Given the description of an element on the screen output the (x, y) to click on. 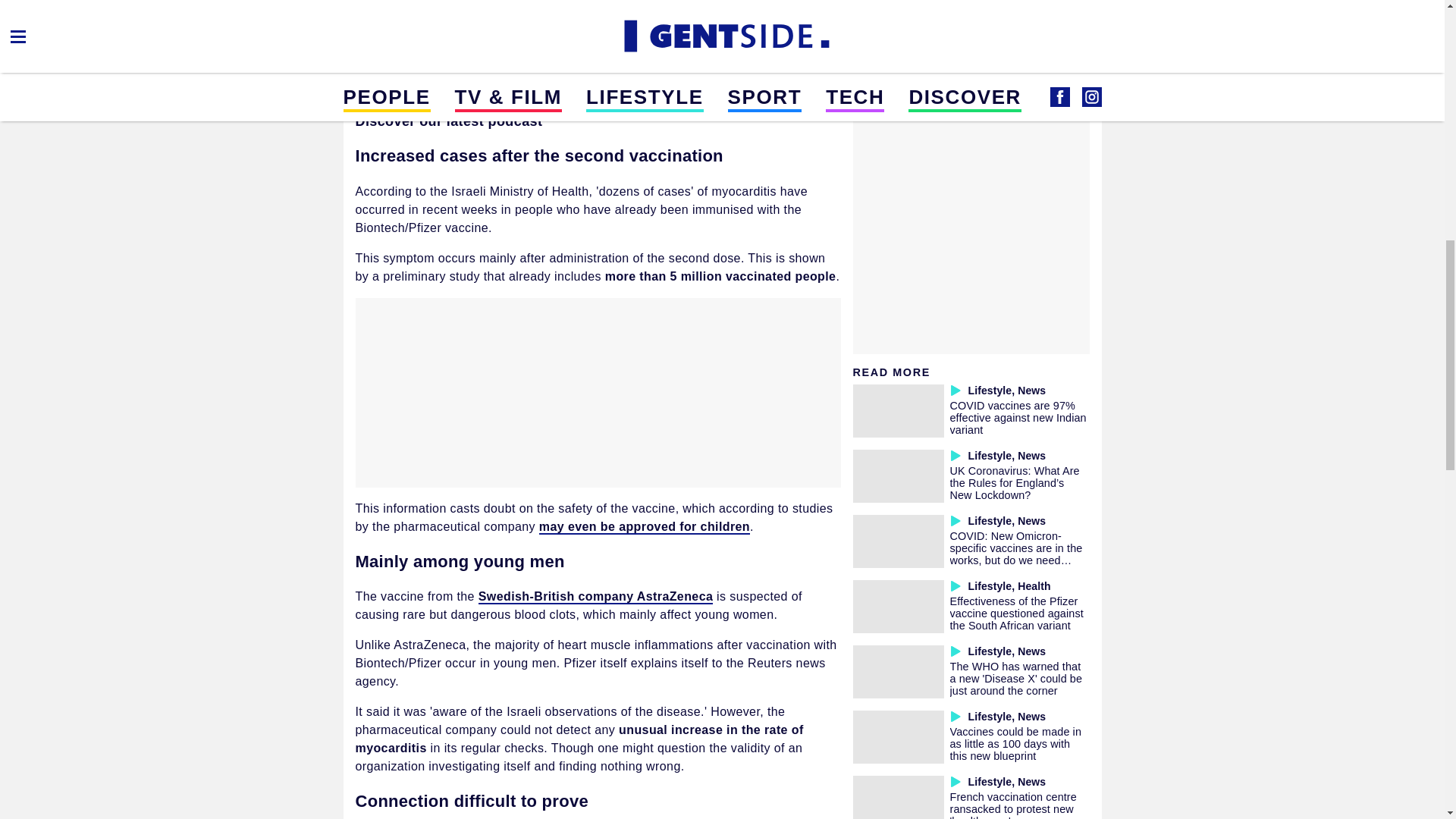
Share on Facebook (378, 7)
Share on Flipboard (451, 7)
may even be approved for children (643, 527)
Swedish-British company AstraZeneca (596, 596)
Tweeter (488, 7)
Share on Mail (415, 7)
Pin it (524, 7)
